Given the description of an element on the screen output the (x, y) to click on. 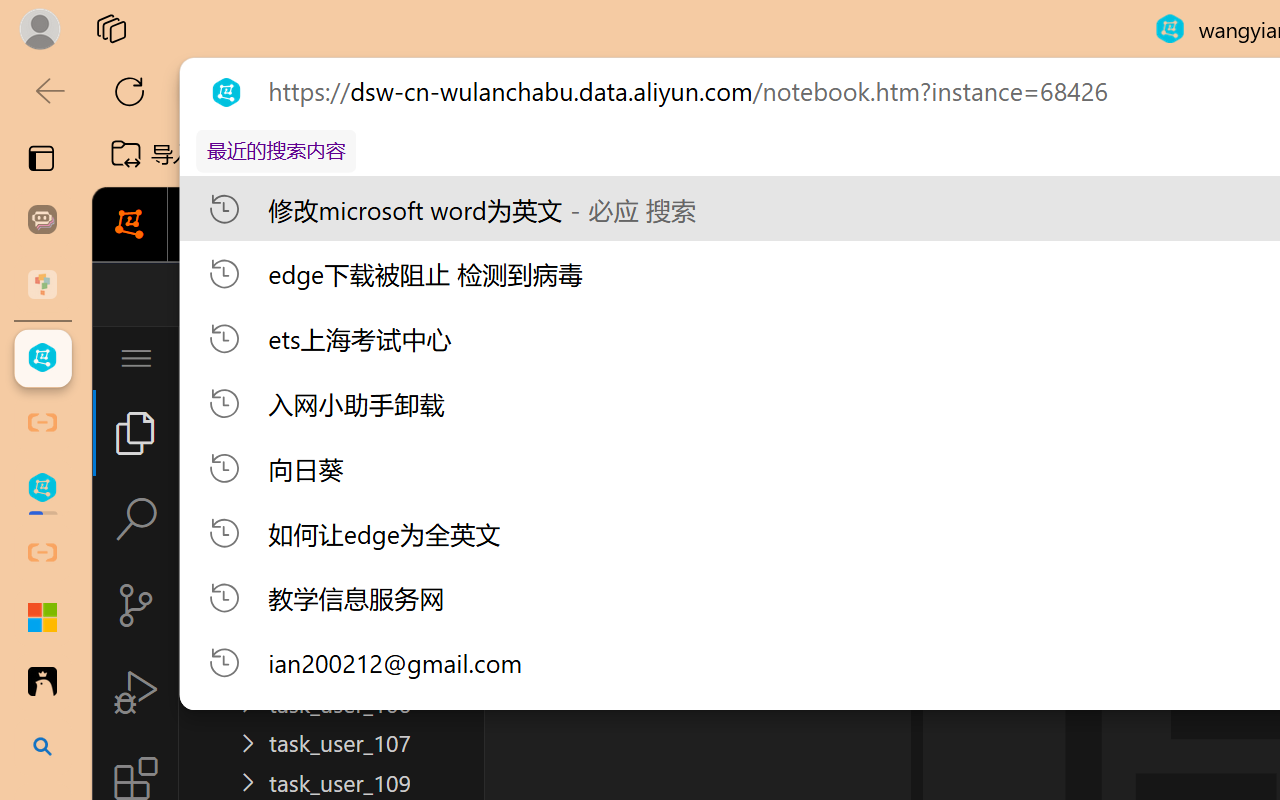
wangyian_webcrawler - DSW (42, 487)
Go Back (Alt+LeftArrow) (605, 294)
Go Forward (Alt+RightArrow) (652, 294)
Explorer (Ctrl+Shift+E) (135, 432)
Explorer Section: workspace (331, 409)
wangyian_dsw - DSW (42, 357)
Views and More Actions... (442, 357)
Explorer actions (390, 358)
Notebook (652, 225)
Gmail (637, 154)
SJTUvpn (774, 154)
